Given the description of an element on the screen output the (x, y) to click on. 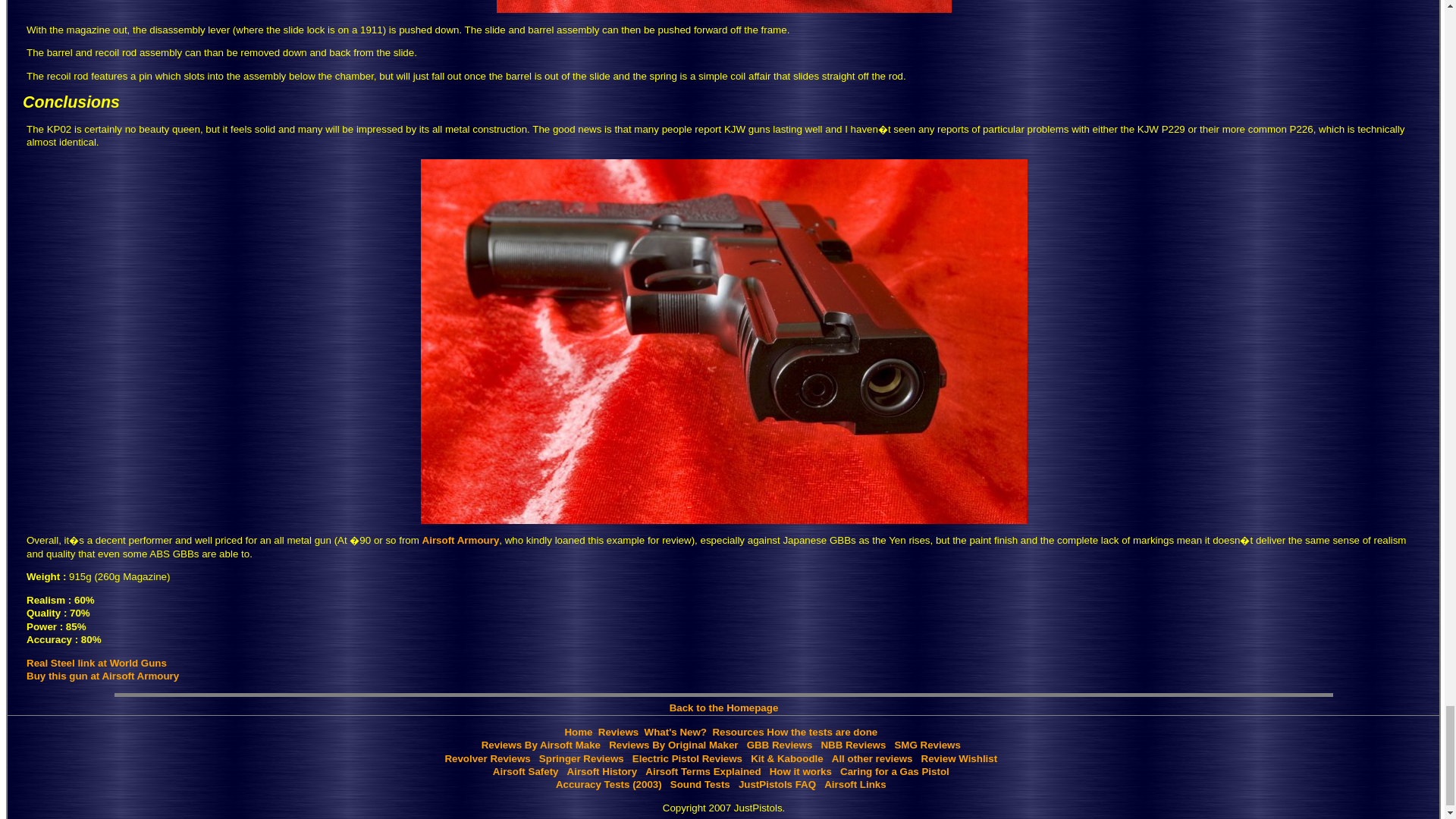
Home (578, 731)
Back to the Homepage (723, 707)
Buy this gun at Airsoft Armoury (102, 675)
Airsoft Armoury (460, 540)
Real Steel link at World Guns (96, 663)
Reviews (618, 731)
